Given the description of an element on the screen output the (x, y) to click on. 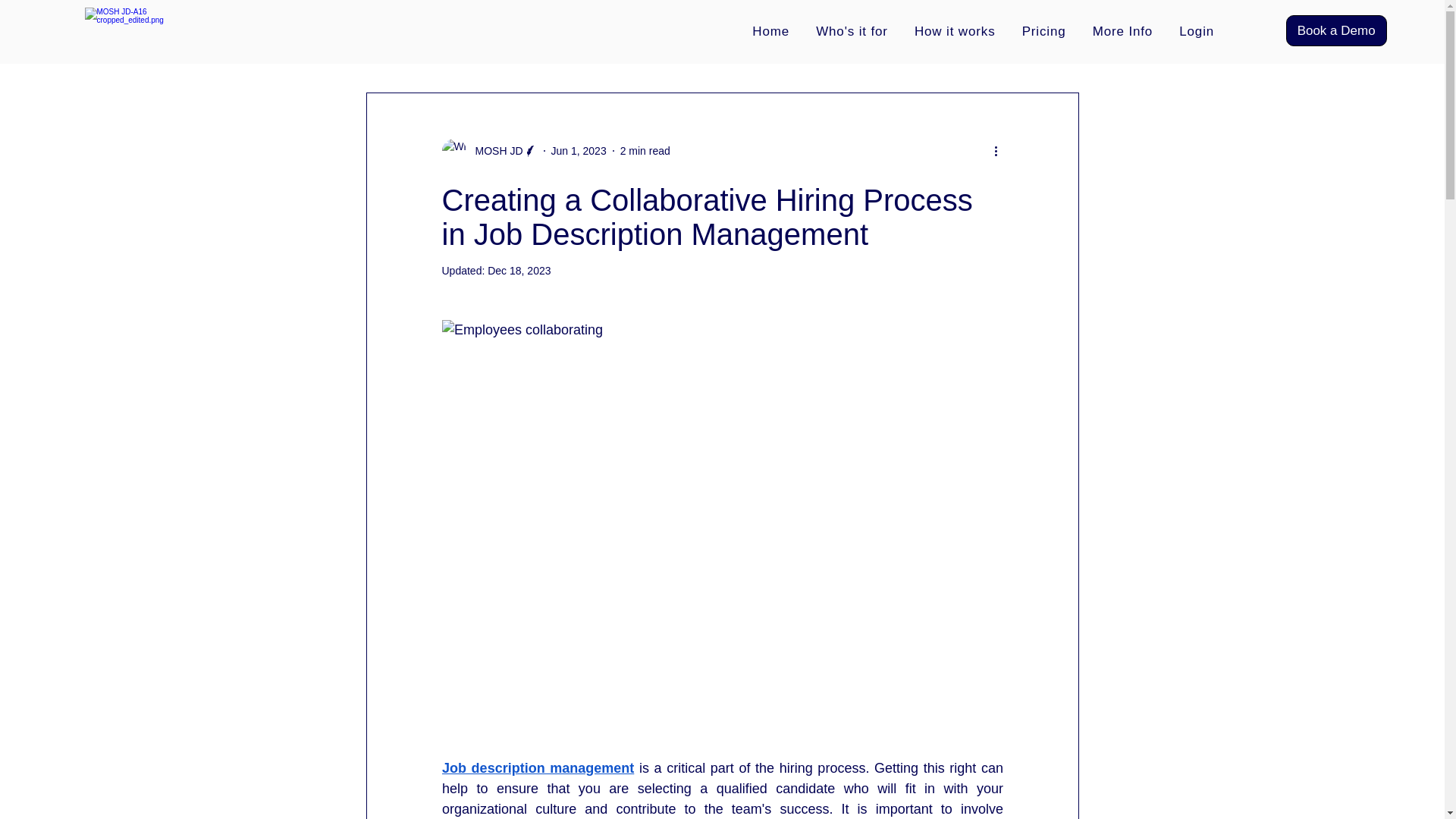
Login (1199, 31)
MOSH JD (493, 150)
Home (773, 31)
Book a Demo (1336, 30)
Jun 1, 2023 (577, 150)
2 min read (644, 150)
Pricing (1046, 31)
Dec 18, 2023 (518, 270)
Job description management (537, 767)
